Given the description of an element on the screen output the (x, y) to click on. 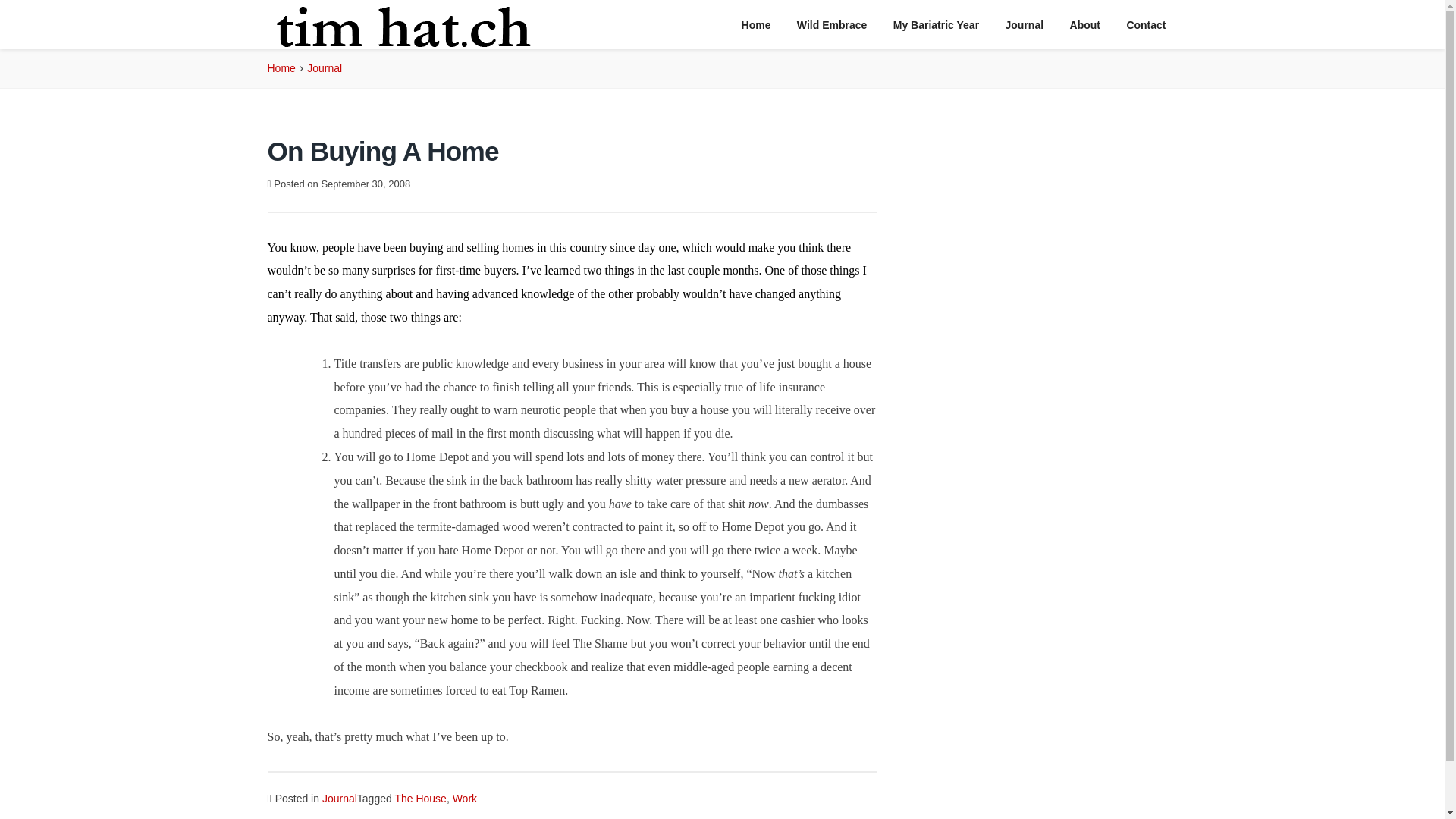
Journal (324, 68)
Wild Embrace (831, 25)
Contact (1145, 25)
About (1085, 25)
September 30, 2008 (365, 183)
Journal (1024, 25)
Home (756, 25)
Home (280, 68)
Work (464, 798)
Journal (338, 798)
